Given the description of an element on the screen output the (x, y) to click on. 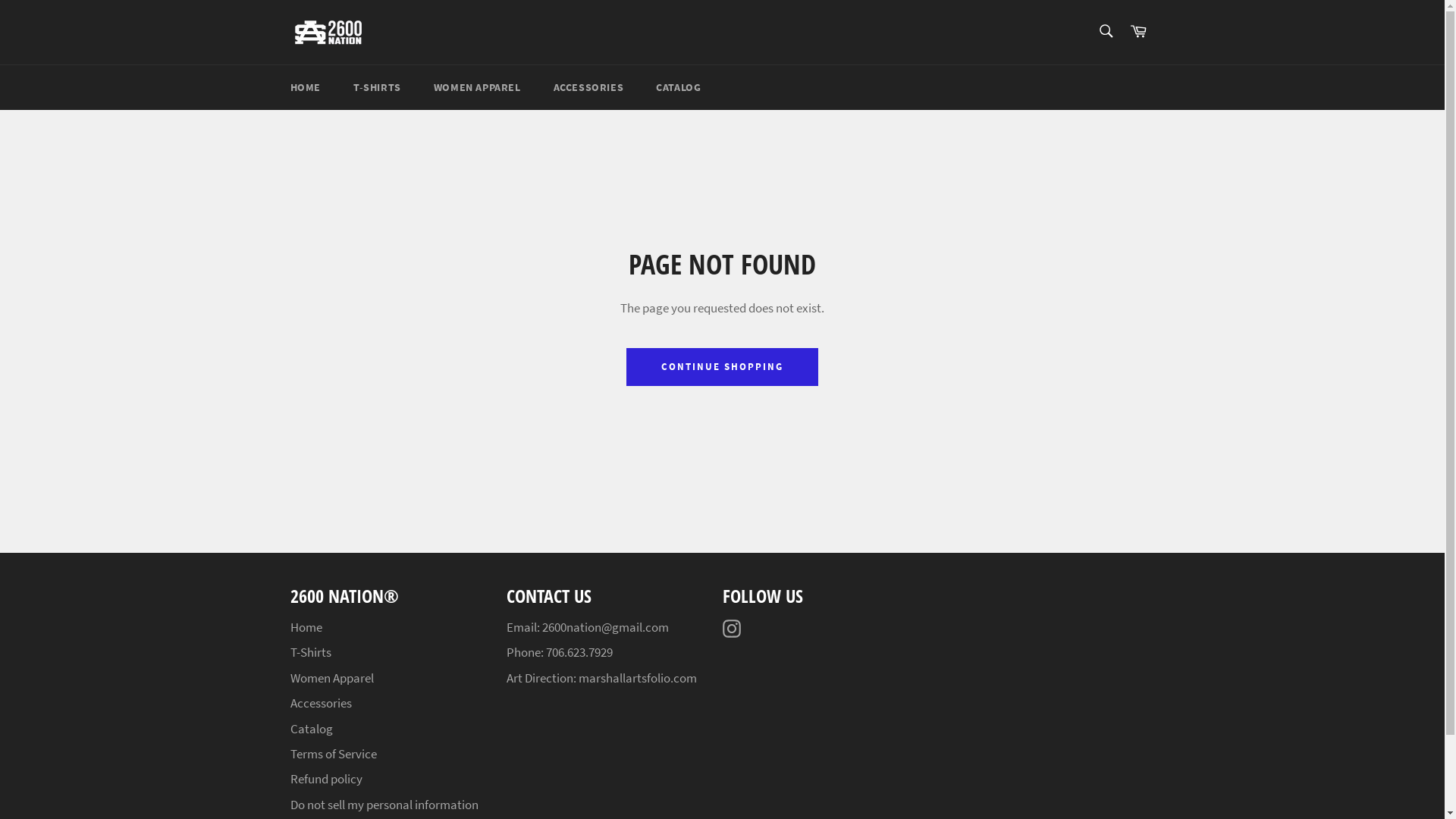
Women Apparel Element type: text (331, 677)
WOMEN APPAREL Element type: text (477, 87)
Catalog Element type: text (310, 728)
CATALOG Element type: text (677, 87)
Refund policy Element type: text (325, 778)
T-SHIRTS Element type: text (377, 87)
T-Shirts Element type: text (309, 651)
CONTINUE SHOPPING Element type: text (721, 366)
Search Element type: text (1105, 31)
Instagram Element type: text (734, 627)
Do not sell my personal information Element type: text (383, 804)
Accessories Element type: text (320, 702)
HOME Element type: text (304, 87)
ACCESSORIES Element type: text (588, 87)
Home Element type: text (305, 626)
Terms of Service Element type: text (332, 753)
Cart Element type: text (1138, 32)
